Given the description of an element on the screen output the (x, y) to click on. 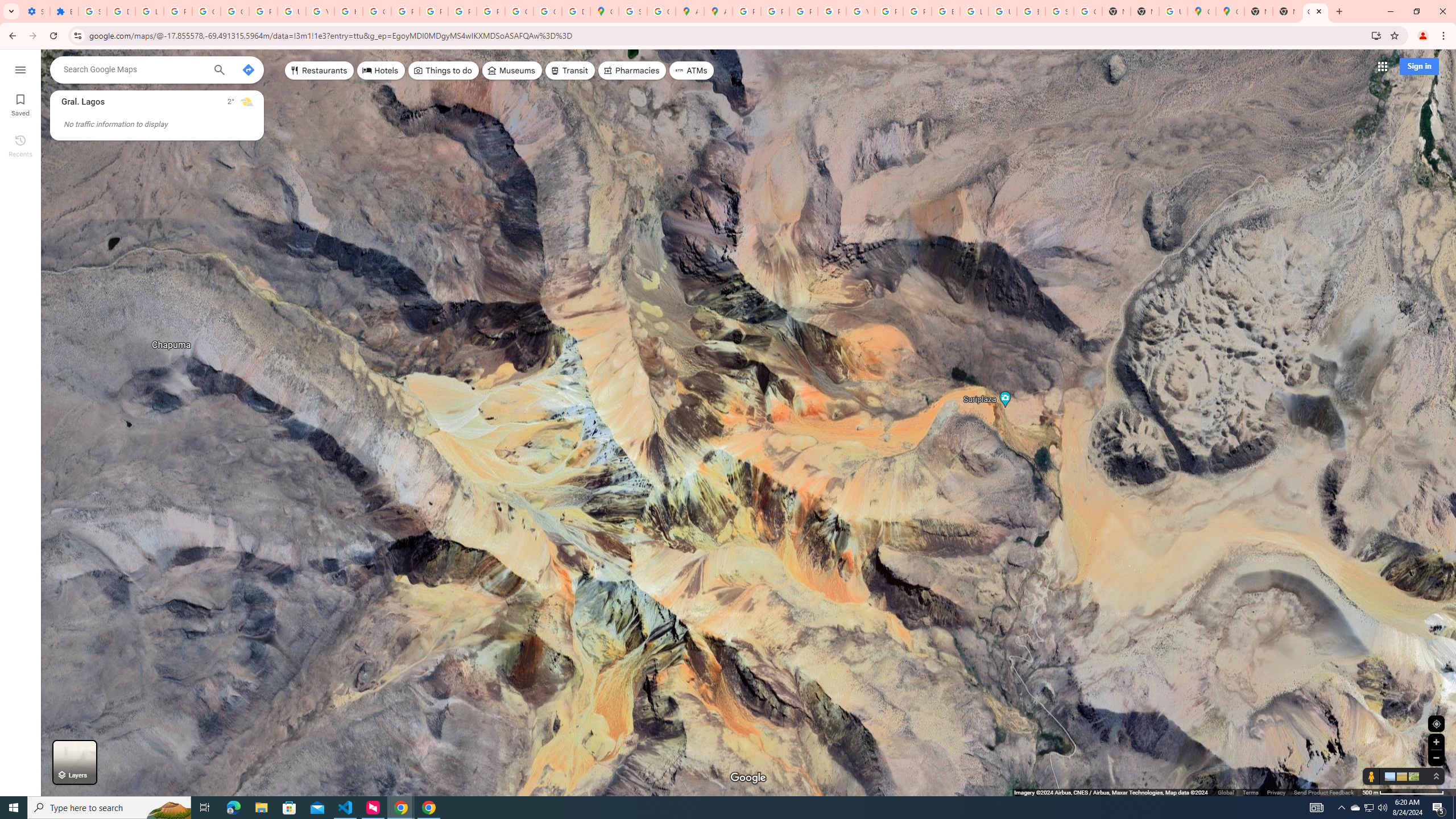
Privacy Help Center - Policies Help (803, 11)
New Tab (1287, 11)
Restaurants (319, 70)
Delete photos & videos - Computer - Google Photos Help (120, 11)
Google Maps (604, 11)
Show imagery (1412, 776)
Use Google Maps in Space - Google Maps Help (1173, 11)
